Given the description of an element on the screen output the (x, y) to click on. 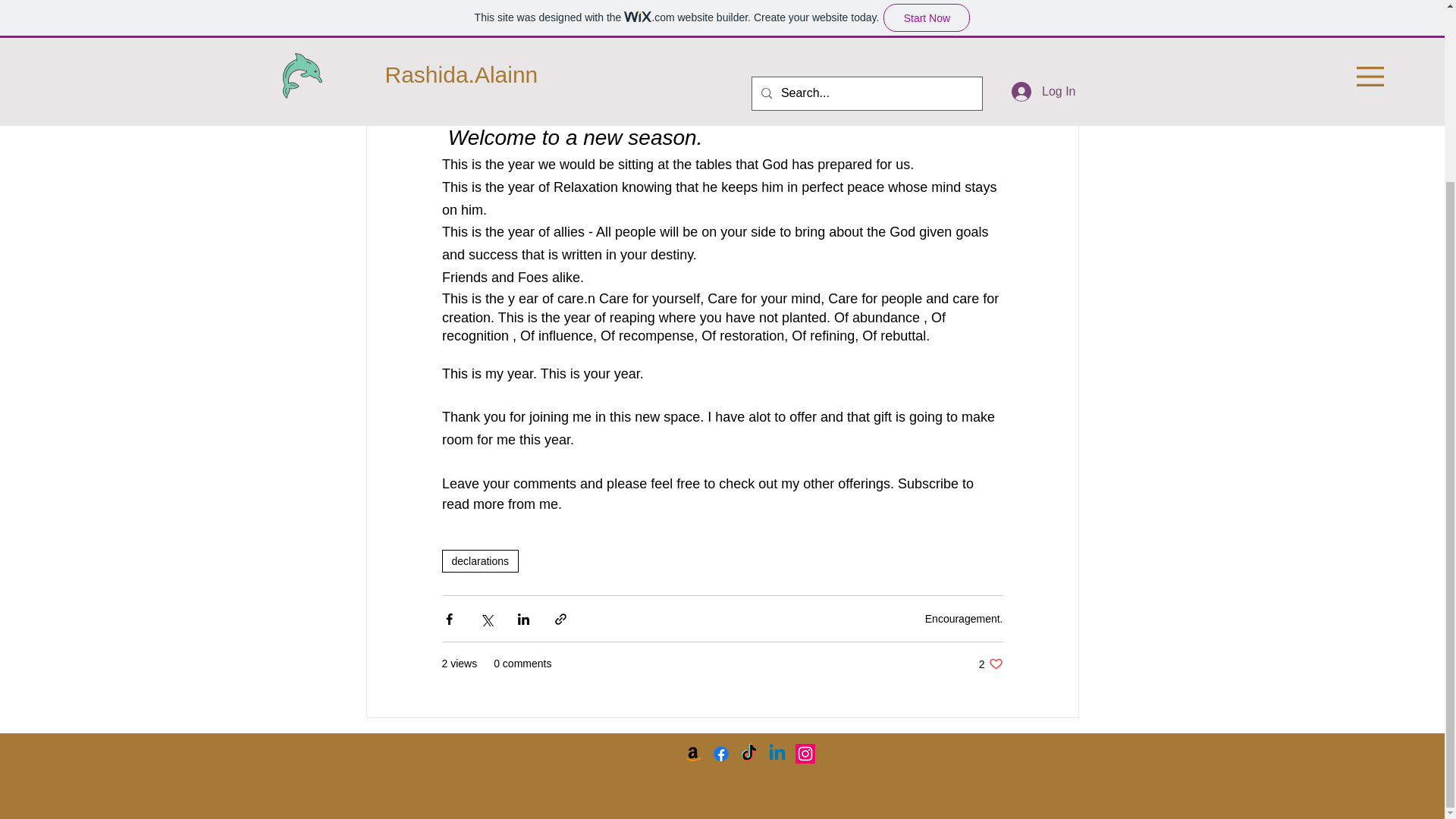
declarations (479, 560)
Rashida Ryan (498, 36)
Jan 1, 2023 (990, 663)
1 min read (596, 35)
Encouragement. (663, 35)
Rashida Ryan  (963, 618)
